Given the description of an element on the screen output the (x, y) to click on. 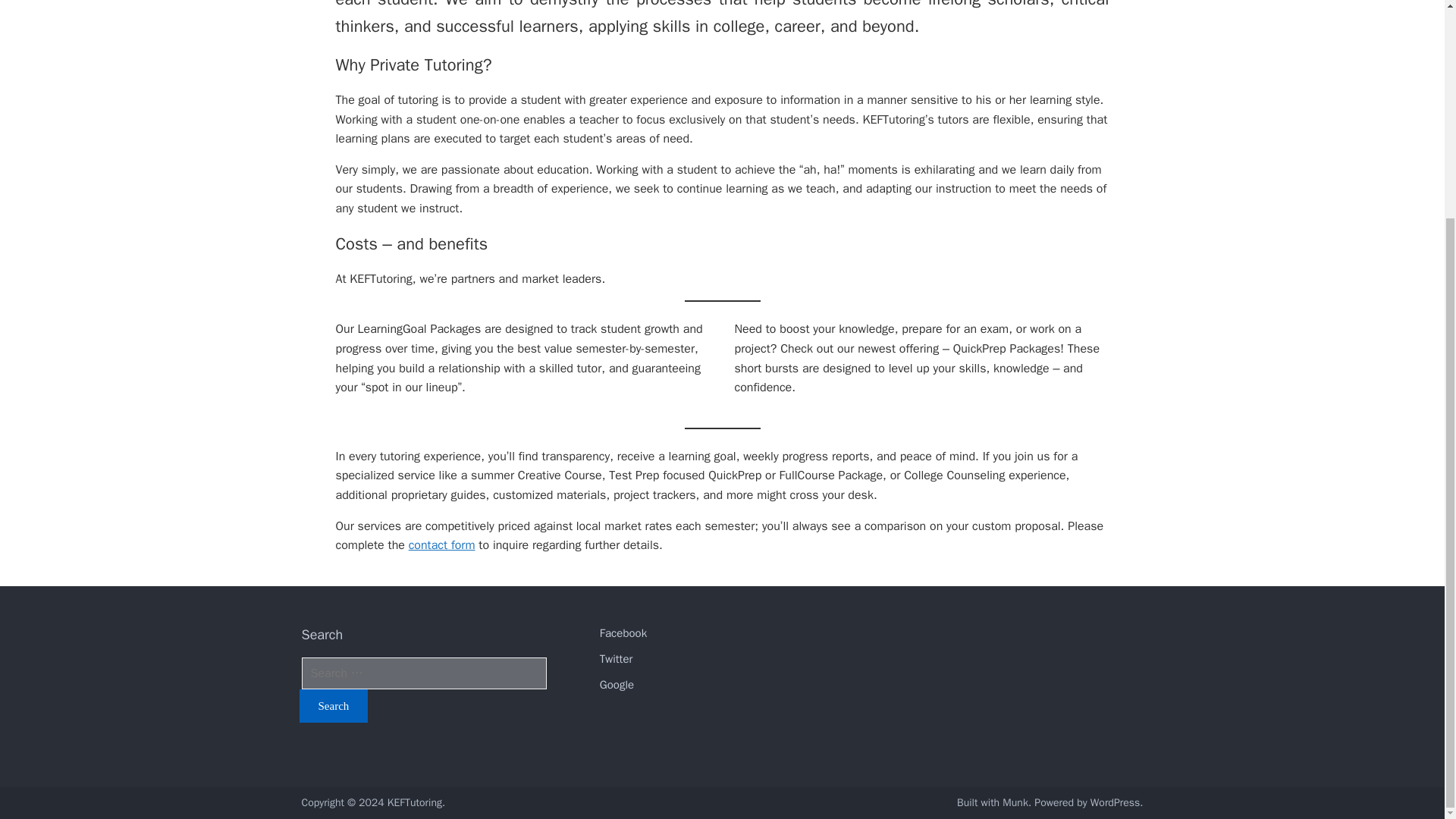
Search (333, 705)
Search (333, 705)
